Given the description of an element on the screen output the (x, y) to click on. 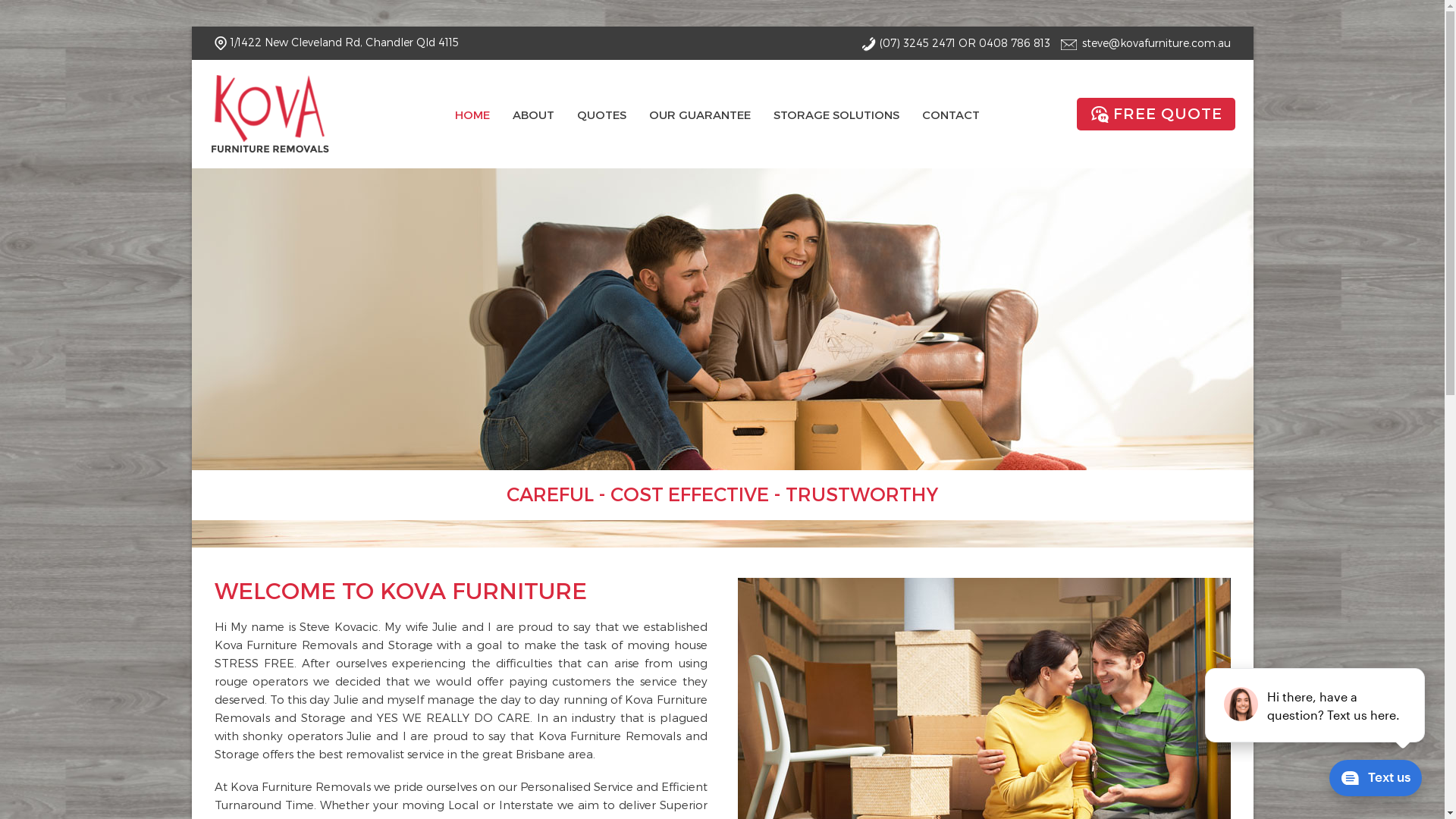
1/1422 New Cleveland Rd, Chandler Qld 4115 Element type: text (335, 42)
podium webchat widget prompt Element type: hover (1315, 705)
HOME Element type: text (472, 114)
0408 786 813 Element type: text (1013, 42)
ABOUT Element type: text (533, 114)
steve@kovafurniture.com.au Element type: text (1155, 42)
OUR GUARANTEE Element type: text (699, 114)
(07) 3245 2471 Element type: text (917, 42)
STORAGE SOLUTIONS Element type: text (836, 114)
QUOTES Element type: text (600, 114)
FREE QUOTE Element type: text (1155, 113)
CONTACT Element type: text (950, 114)
